Given the description of an element on the screen output the (x, y) to click on. 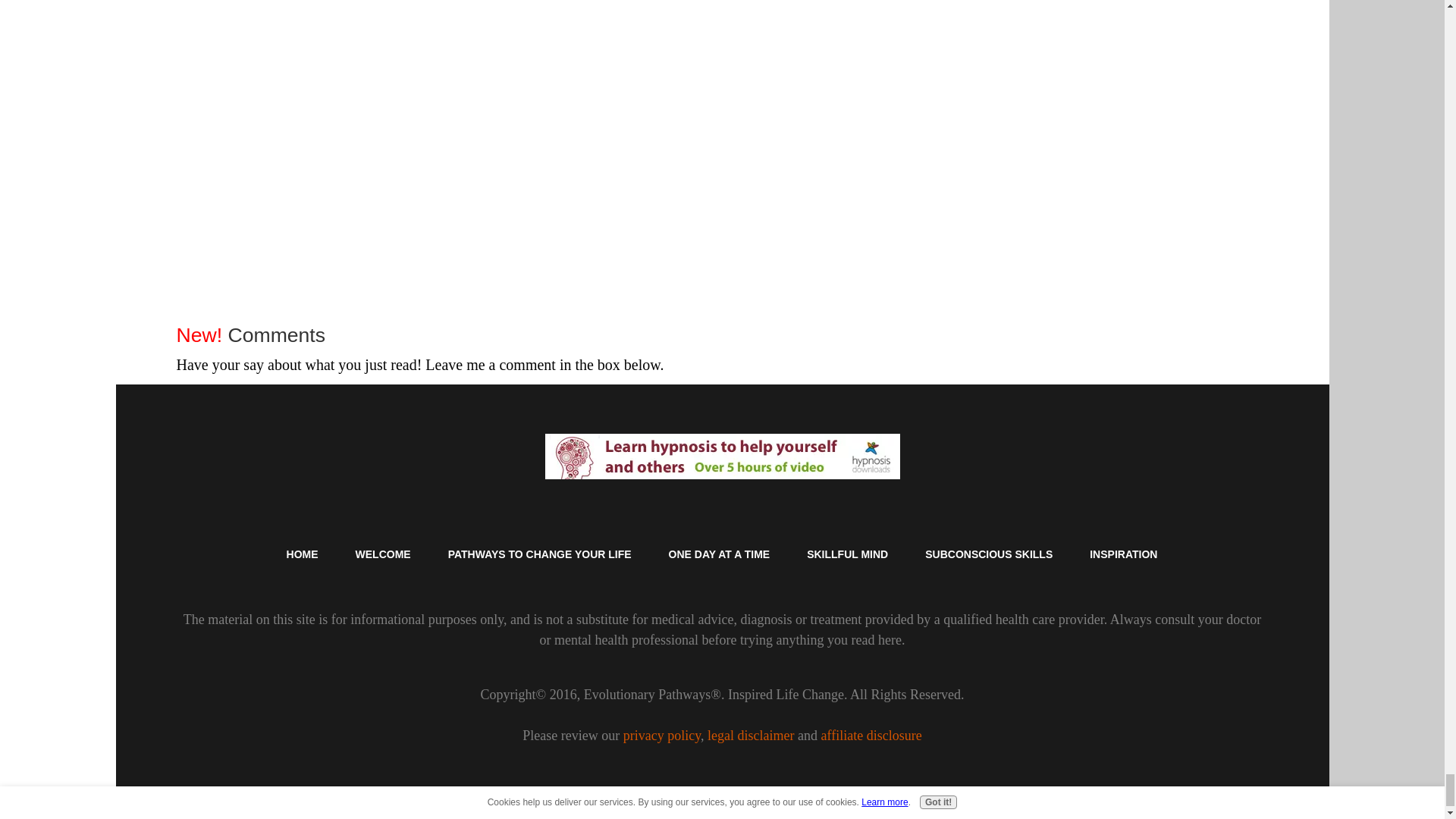
PATHWAYS TO CHANGE YOUR LIFE (539, 553)
SUBCONSCIOUS SKILLS (989, 553)
ONE DAY AT A TIME (719, 553)
HOME (302, 553)
